Given the description of an element on the screen output the (x, y) to click on. 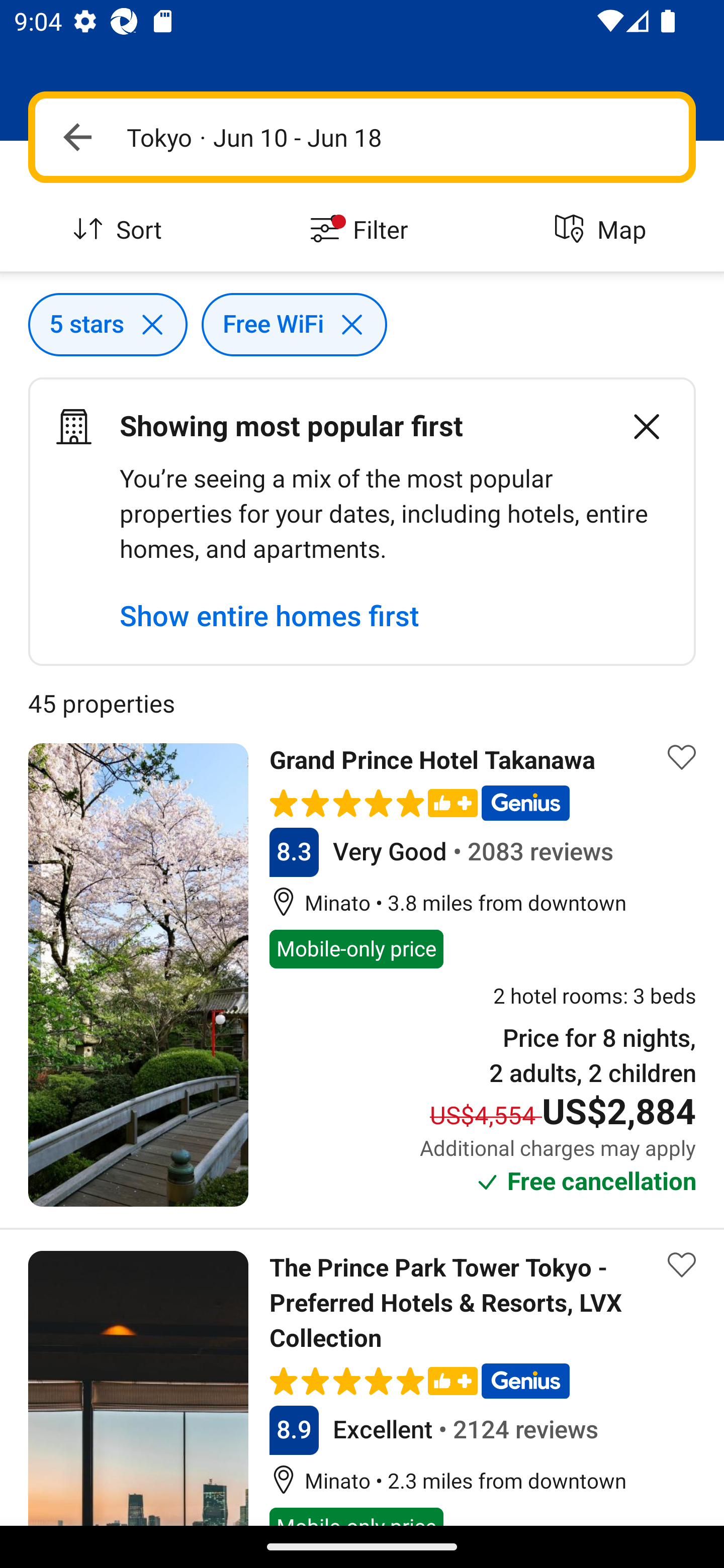
Navigate up Tokyo · Jun 10 - Jun 18 (362, 136)
Navigate up (77, 136)
Sort (120, 230)
Filter (361, 230)
Map (603, 230)
Clear (635, 426)
Show entire homes first (269, 615)
Save property to list (681, 757)
Save property to list (681, 1265)
